Given the description of an element on the screen output the (x, y) to click on. 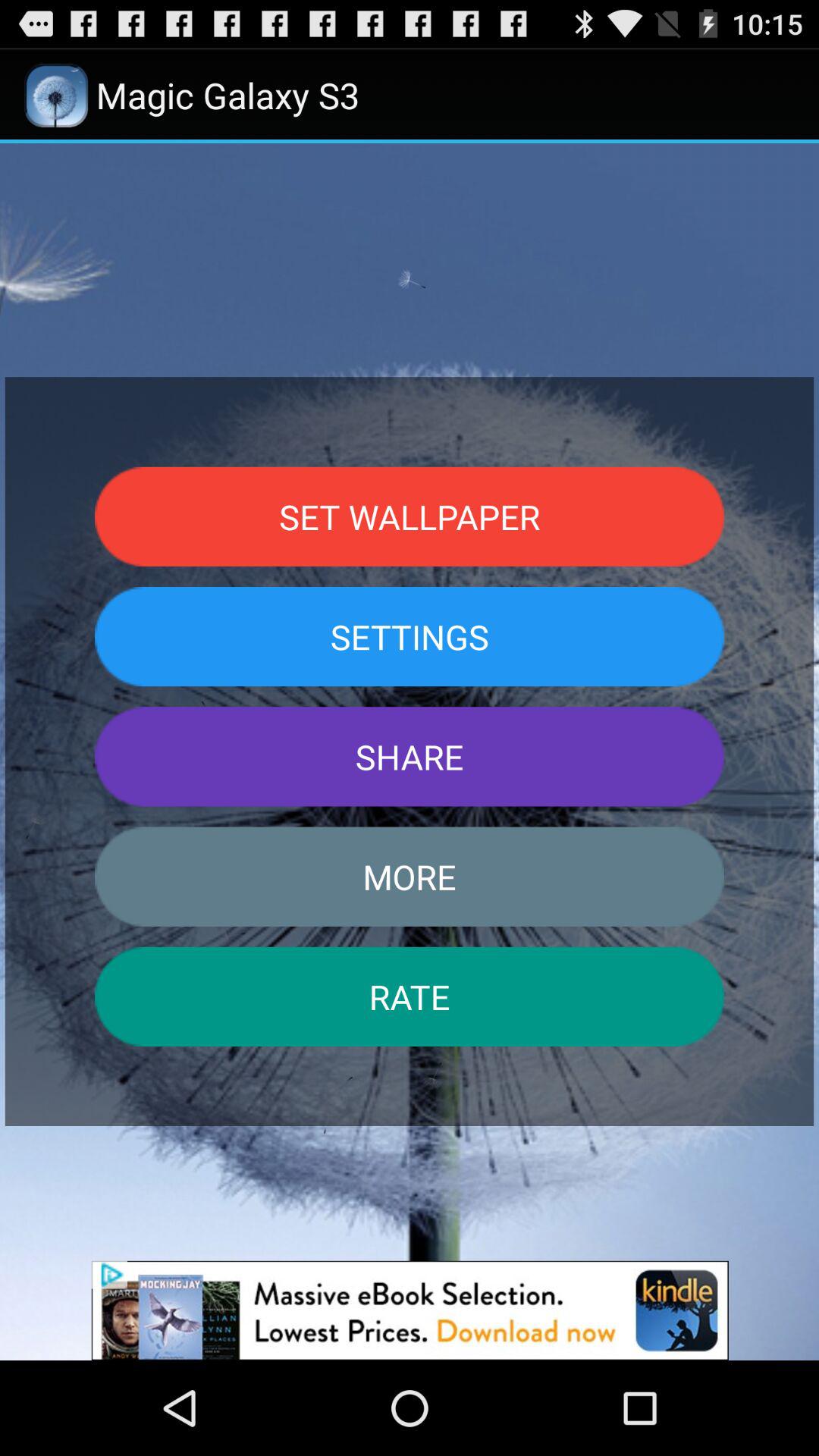
swipe to more (409, 876)
